Given the description of an element on the screen output the (x, y) to click on. 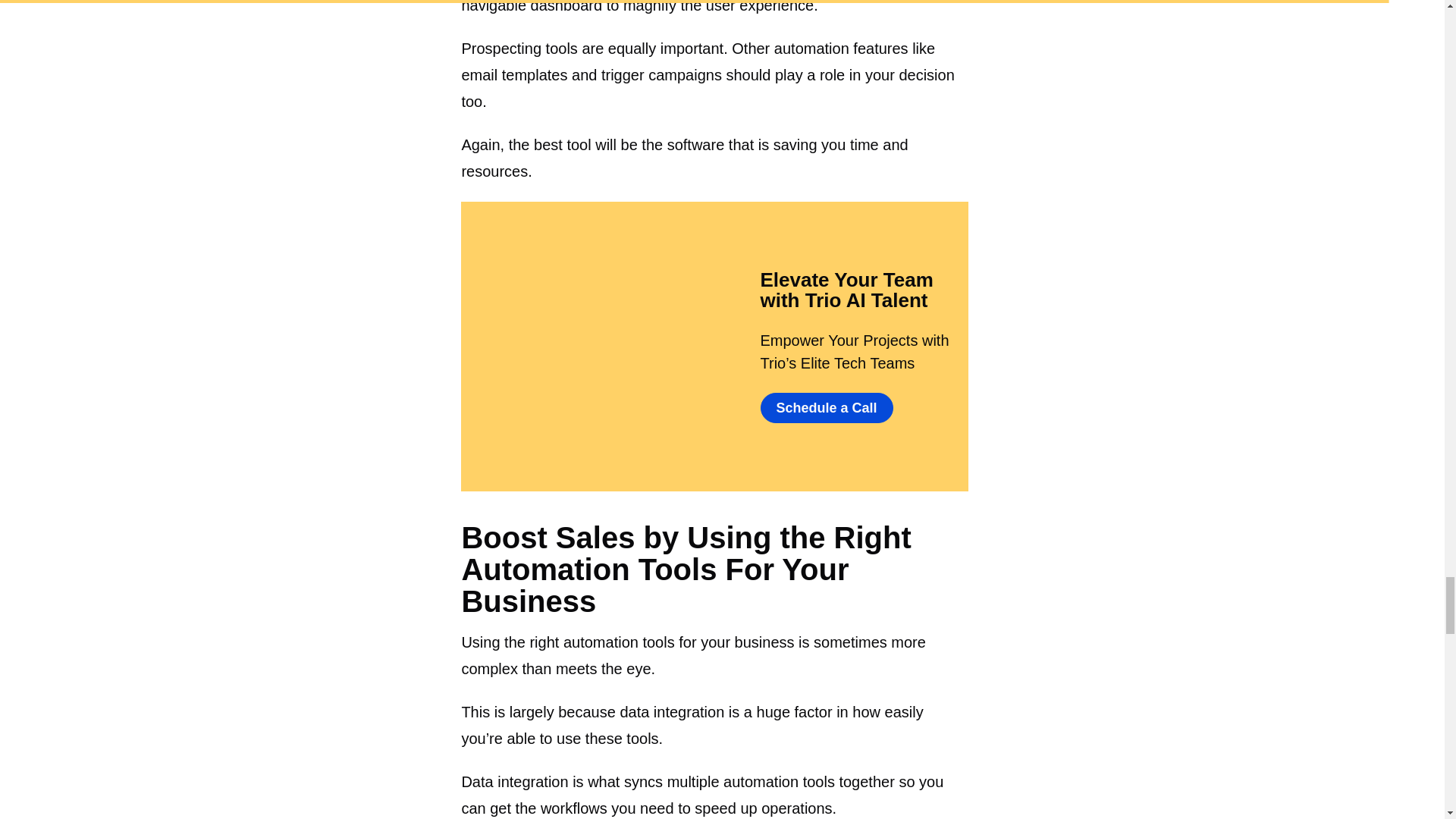
Schedule a Call (826, 408)
